Given the description of an element on the screen output the (x, y) to click on. 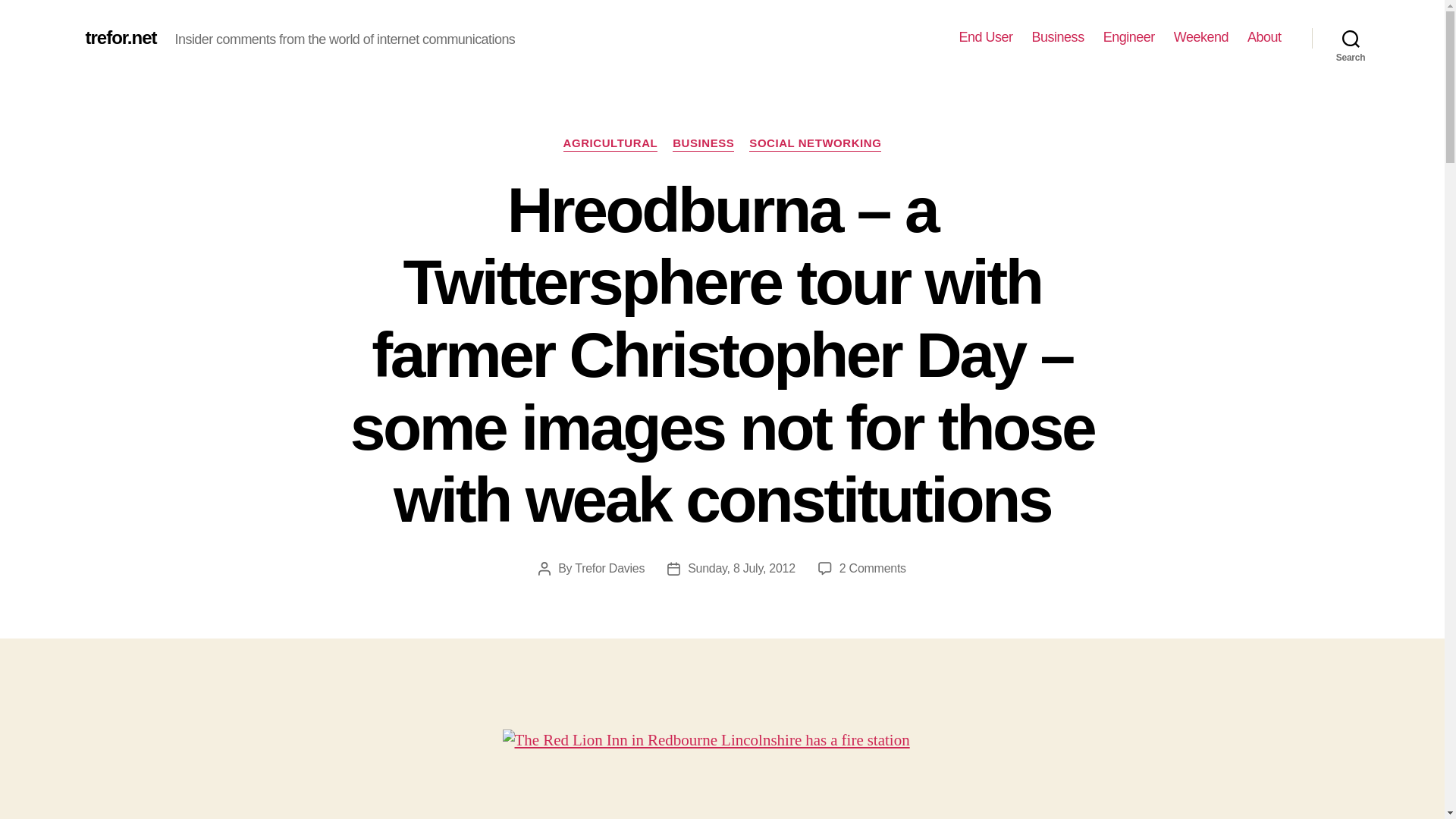
BUSINESS (702, 143)
Trefor Davies (610, 567)
Business (1058, 37)
Engineer (1128, 37)
SOCIAL NETWORKING (814, 143)
AGRICULTURAL (610, 143)
Weekend (1200, 37)
End User (986, 37)
trefor.net (119, 37)
Search (1350, 37)
About (1264, 37)
Sunday, 8 July, 2012 (740, 567)
